Given the description of an element on the screen output the (x, y) to click on. 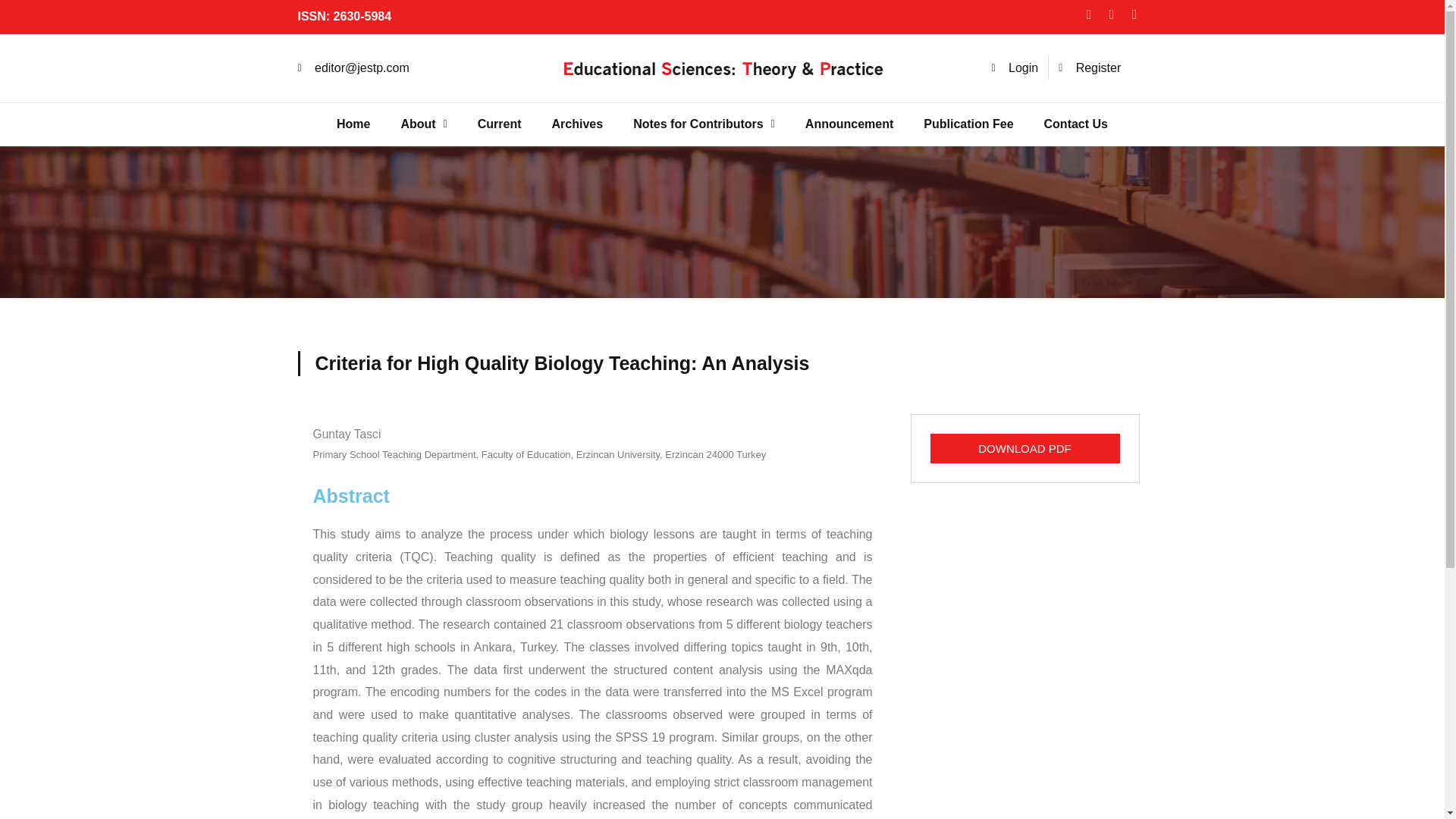
Twitter (1114, 16)
About (423, 124)
Publication Fee (967, 124)
Contact Us (1075, 124)
Login (1015, 67)
DOWNLOAD PDF (1024, 448)
Current (500, 124)
Archives (577, 124)
Home (353, 124)
Register (1089, 67)
Notes for Contributors (703, 124)
Facebook (1090, 16)
Linkedin (1136, 16)
Announcement (849, 124)
